Given the description of an element on the screen output the (x, y) to click on. 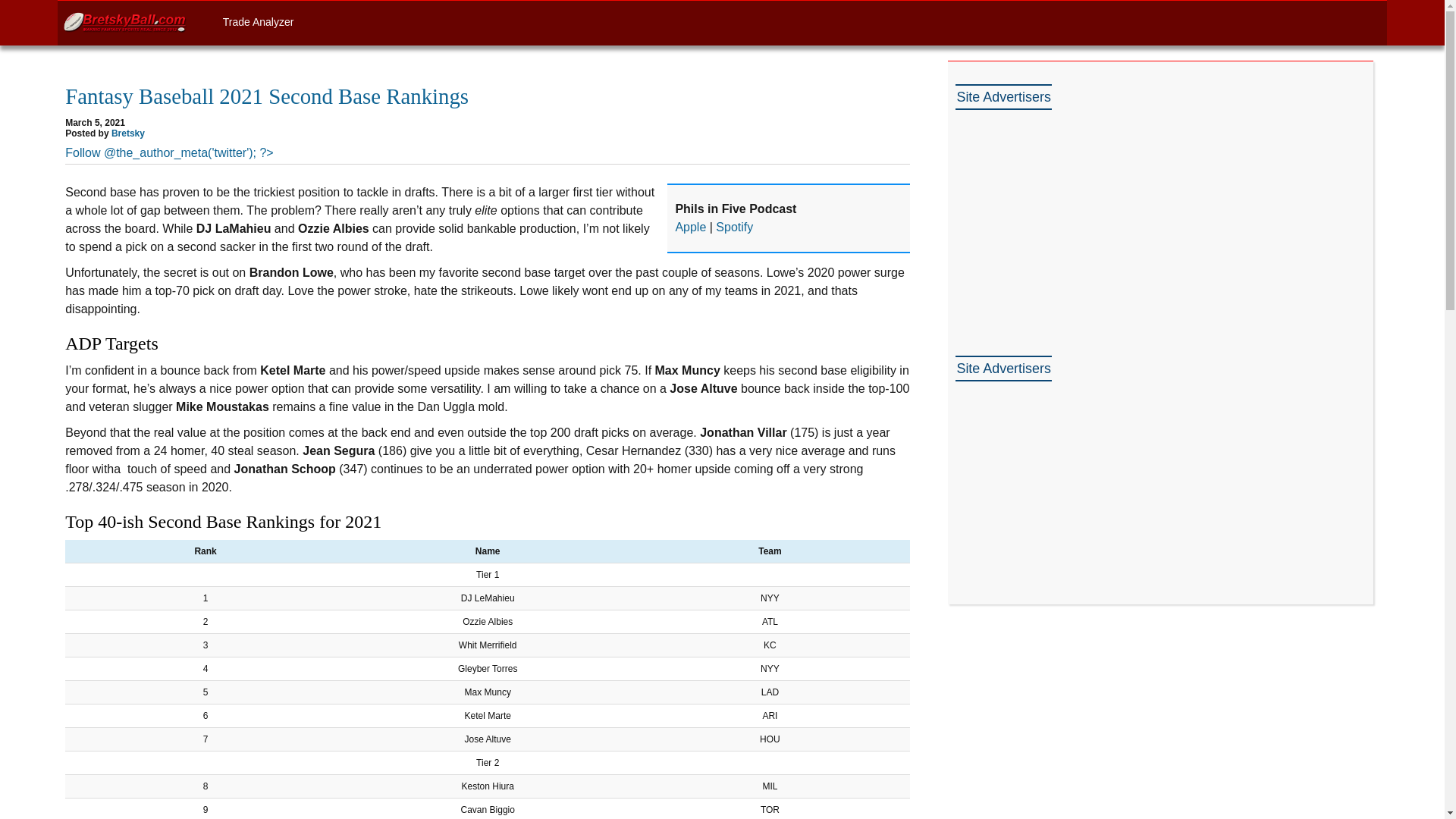
Spotify (734, 226)
Posts by Bretsky (128, 132)
Trade Analyzer (258, 21)
Apple (690, 226)
Fantasy Baseball 2021 Second Base Rankings (266, 96)
Bretsky (128, 132)
